Given the description of an element on the screen output the (x, y) to click on. 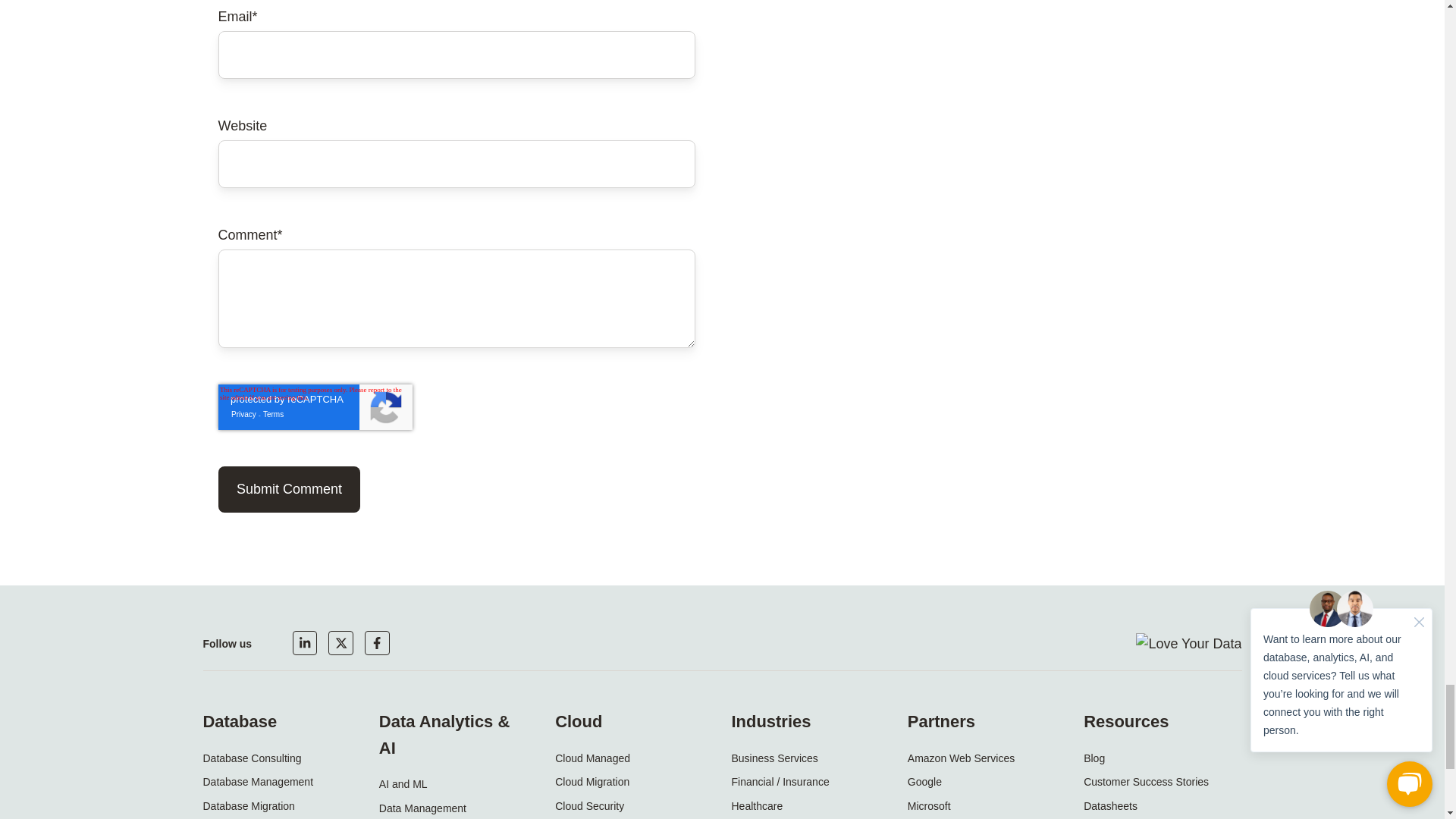
Submit Comment (289, 489)
reCAPTCHA (315, 406)
